Given the description of an element on the screen output the (x, y) to click on. 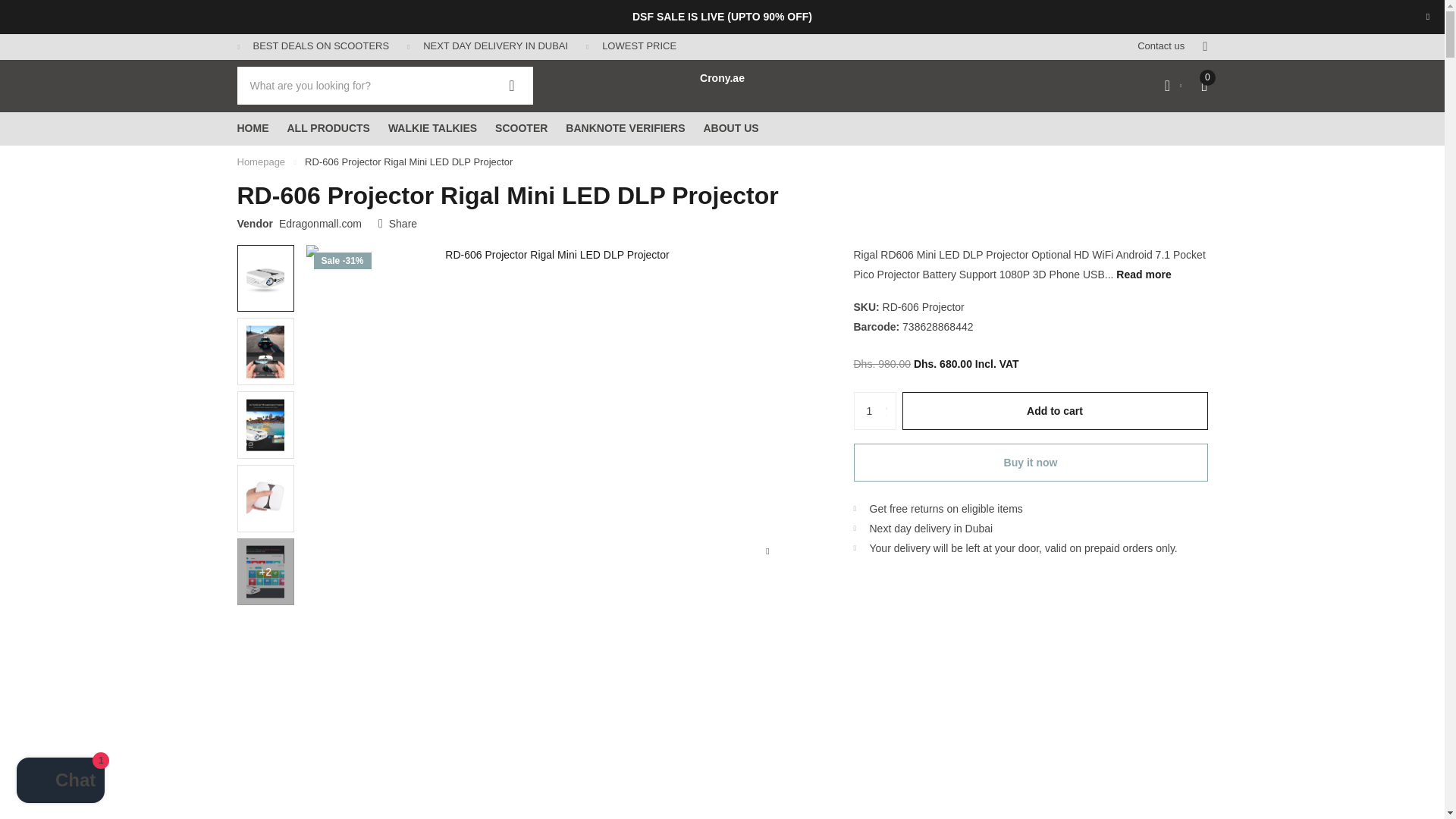
Close (1427, 17)
HOME (251, 128)
1 (874, 410)
ALL PRODUCTS (327, 128)
Shopify online store chat (60, 781)
Home (260, 161)
Contact us (1161, 46)
Zoeken (512, 85)
